Given the description of an element on the screen output the (x, y) to click on. 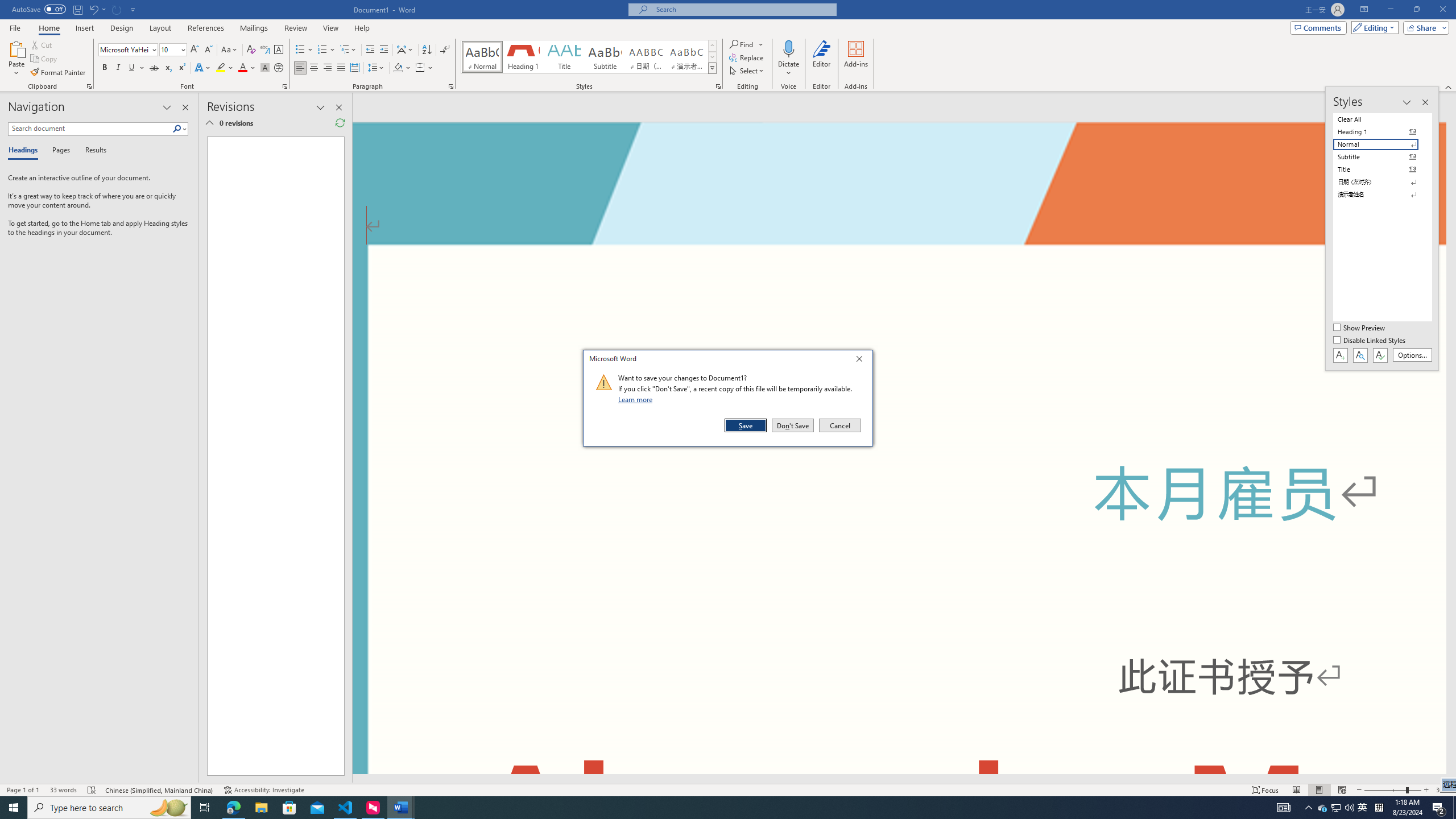
User Promoted Notification Area (1336, 807)
Shrink Font (208, 49)
Underline (136, 67)
Tray Input Indicator - Chinese (Simplified, China) (1378, 807)
Align Right (327, 67)
Subscript (167, 67)
Microsoft Edge - 1 running window (233, 807)
Microsoft search (742, 9)
Search (179, 128)
Mode (1372, 27)
Borders (419, 67)
Microsoft Store (289, 807)
Subtitle (605, 56)
Format Painter (58, 72)
